Given the description of an element on the screen output the (x, y) to click on. 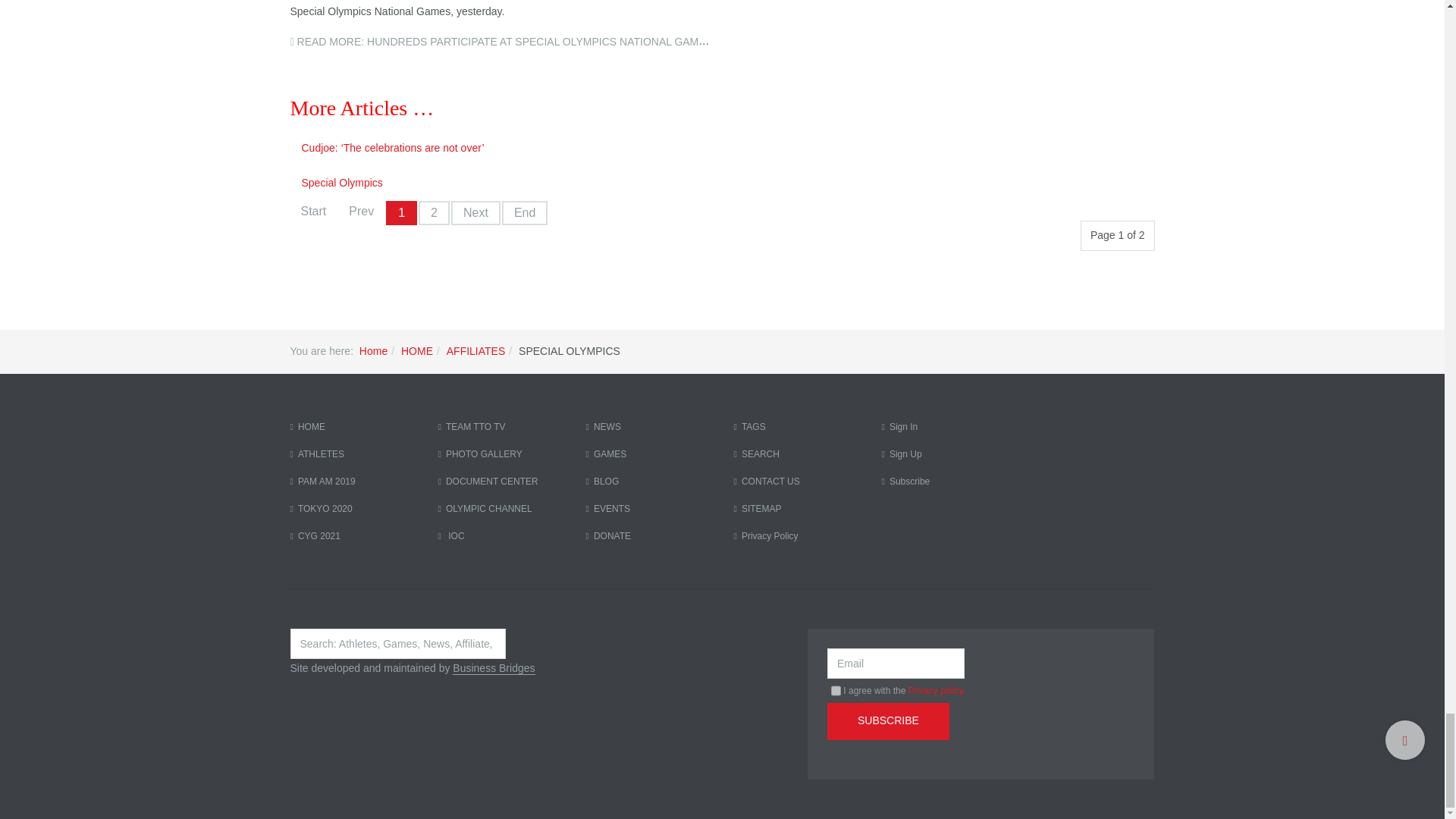
Subscribe (888, 721)
on (836, 690)
